Given the description of an element on the screen output the (x, y) to click on. 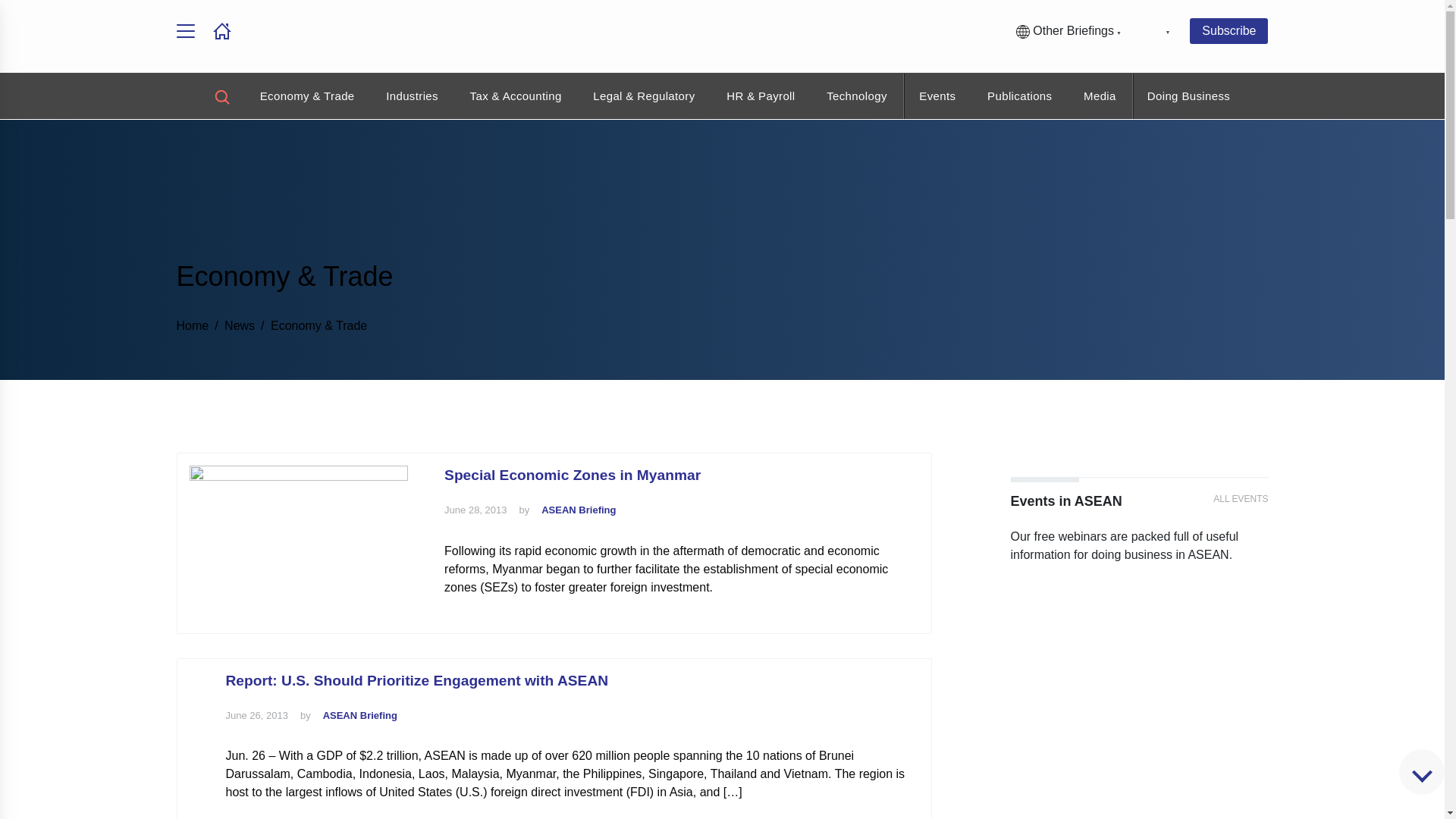
View all posts by ASEAN Briefing (578, 509)
View all posts by ASEAN Briefing (360, 715)
Industries (411, 95)
Publications (1019, 95)
Technology (856, 95)
Subscribe (1228, 31)
